Given the description of an element on the screen output the (x, y) to click on. 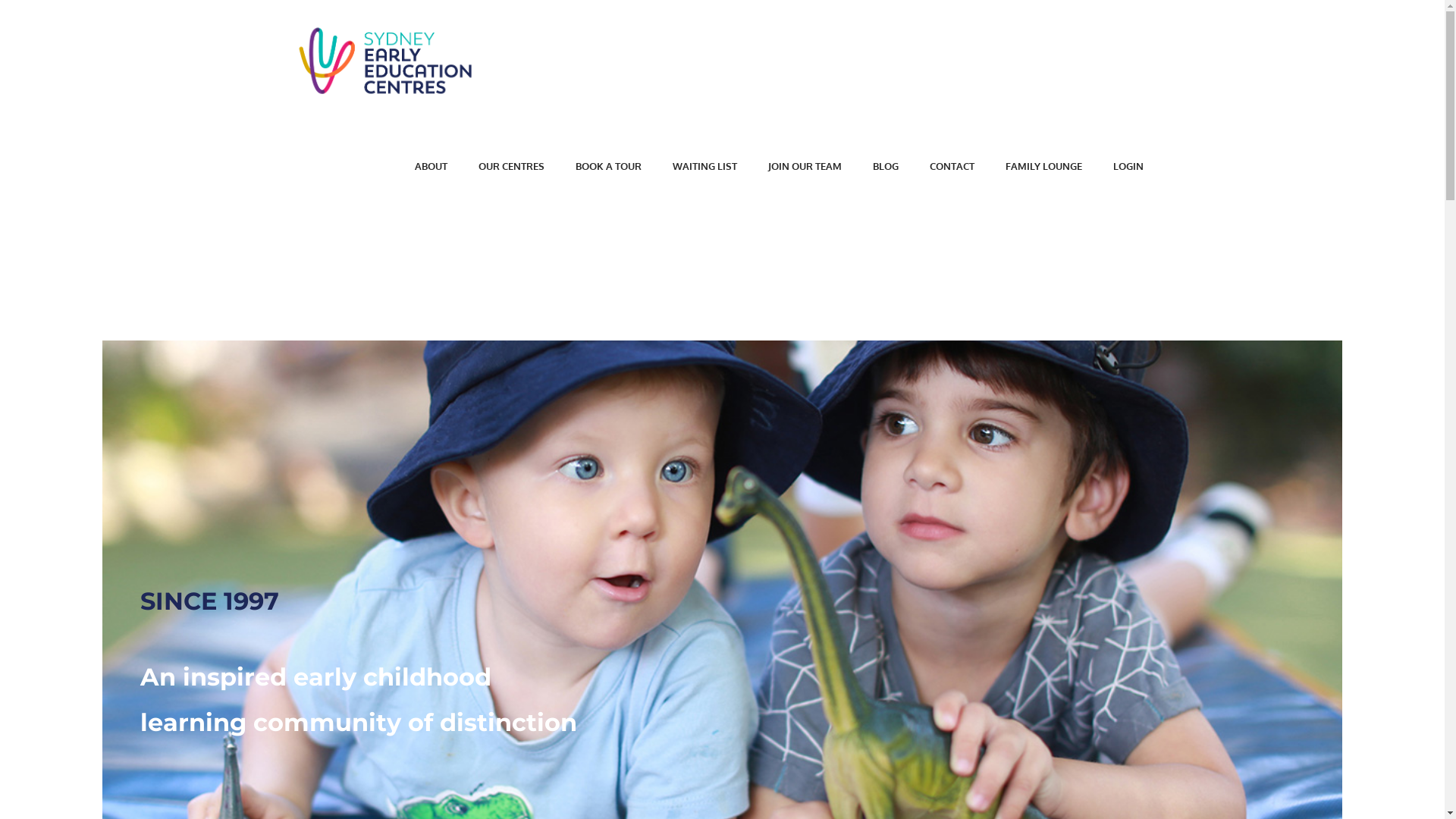
CONTACT Element type: text (951, 166)
FAMILY LOUNGE Element type: text (1043, 166)
OUR CENTRES Element type: text (510, 166)
LOGIN Element type: text (1128, 166)
ABOUT Element type: text (429, 166)
JOIN OUR TEAM Element type: text (804, 166)
WAITING LIST Element type: text (703, 166)
BLOG Element type: text (884, 166)
BOOK A TOUR Element type: text (607, 166)
